Given the description of an element on the screen output the (x, y) to click on. 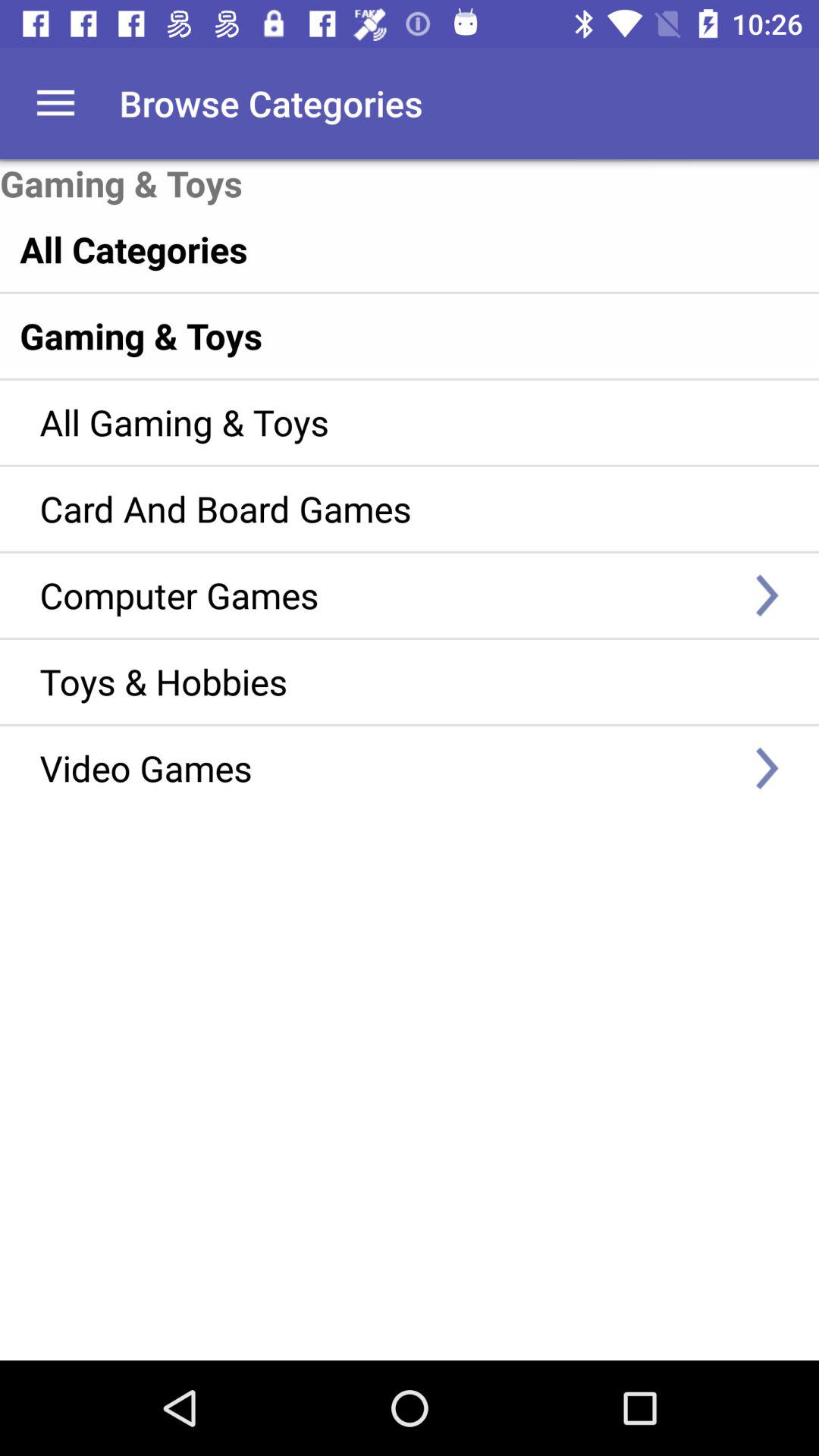
swipe to the card and board (387, 508)
